Given the description of an element on the screen output the (x, y) to click on. 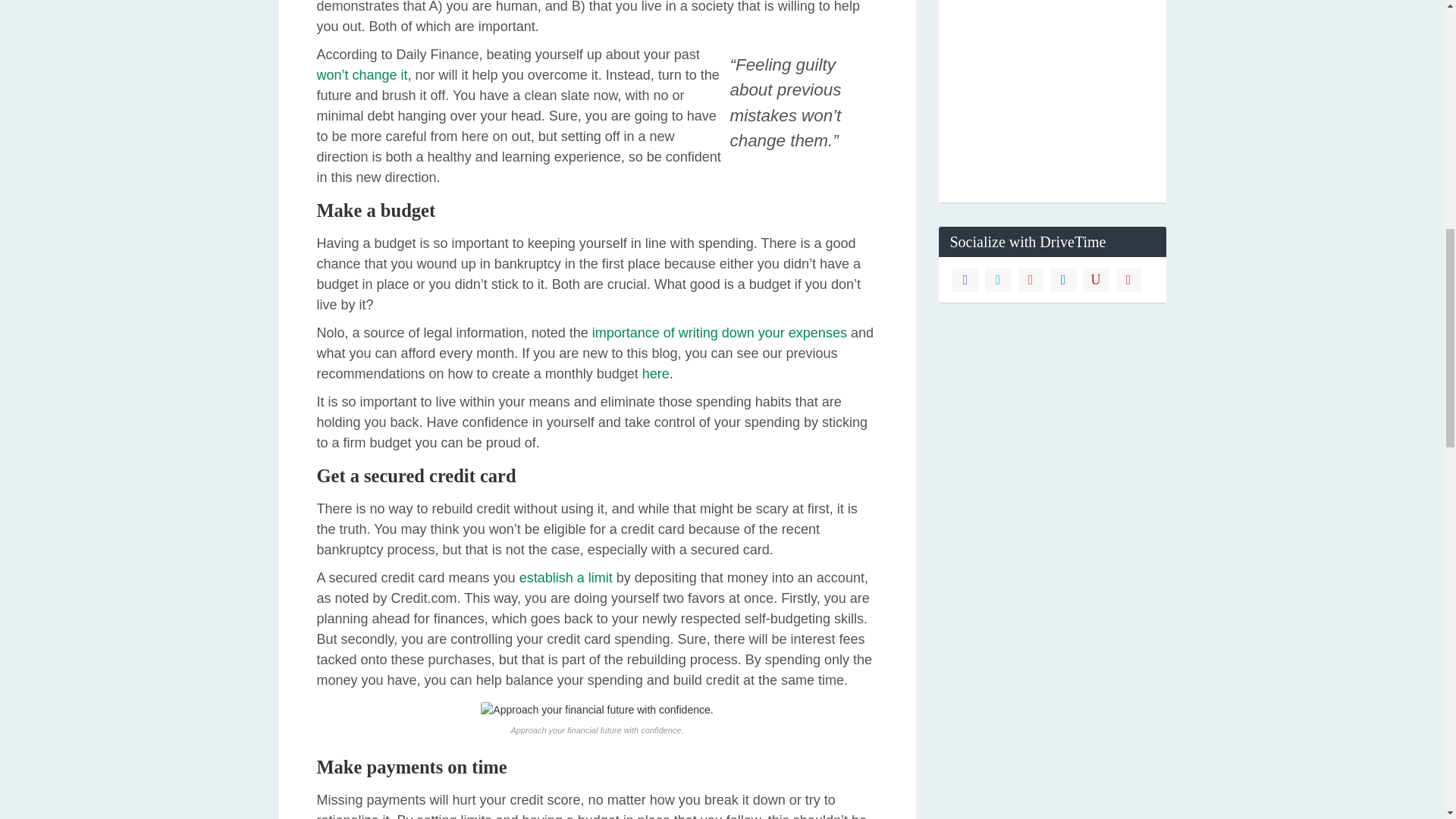
here (655, 373)
How to: Create a Simple Monthly Budget (655, 373)
How To Rebuild Your Credit After Bankruptcy (565, 577)
importance of writing down your expenses (719, 332)
establish a limit (565, 577)
Tips to Repair Your Credit After Bankruptcy (719, 332)
